Given the description of an element on the screen output the (x, y) to click on. 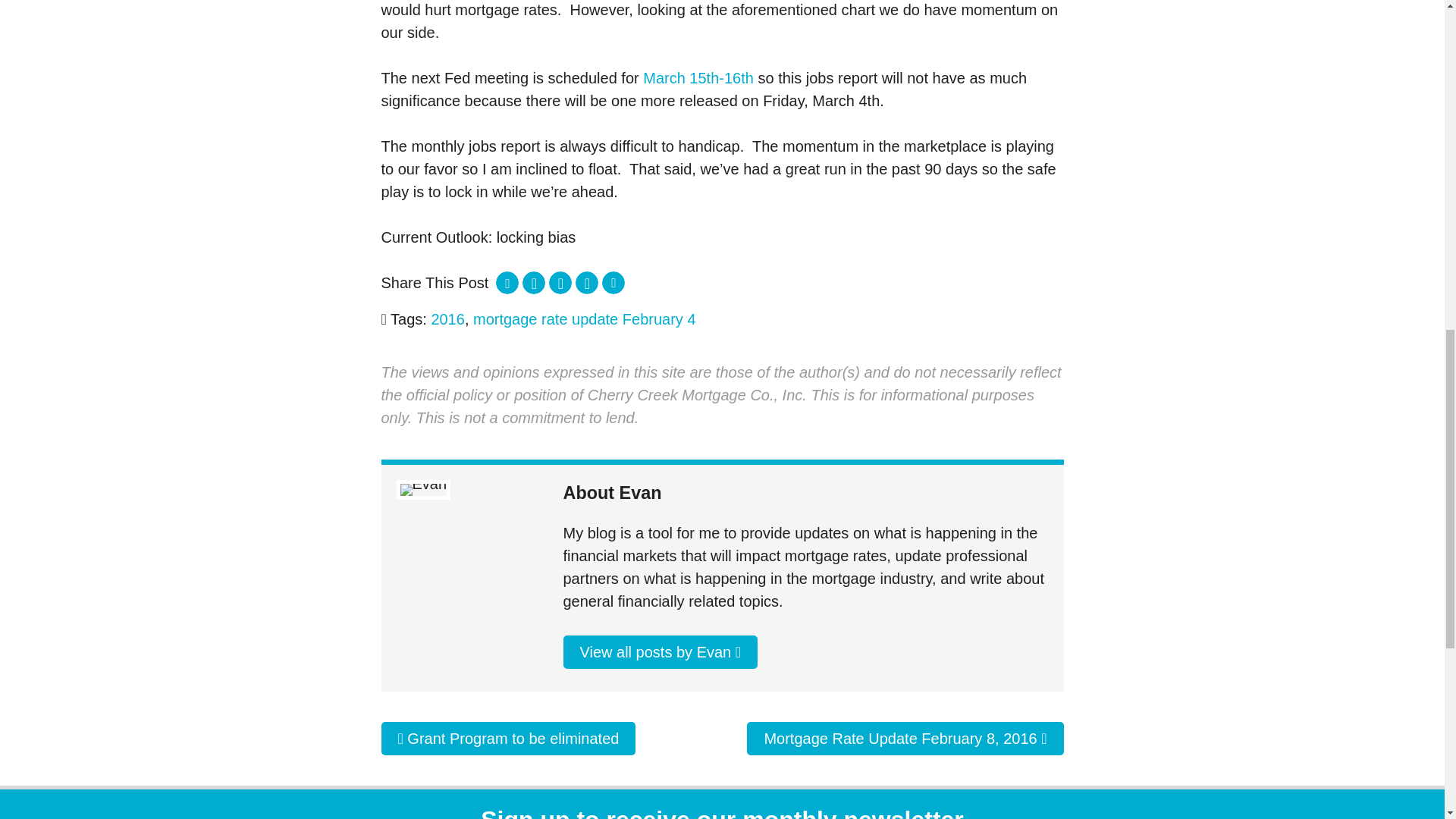
mortgage rate update February 4 (584, 319)
Grant Program to be eliminated (507, 738)
Email (613, 282)
View all posts by Evan (659, 652)
Facebook (586, 282)
Twitter (560, 282)
March 15th-16th (698, 77)
2016 (447, 319)
LinkedIn (533, 282)
